Given the description of an element on the screen output the (x, y) to click on. 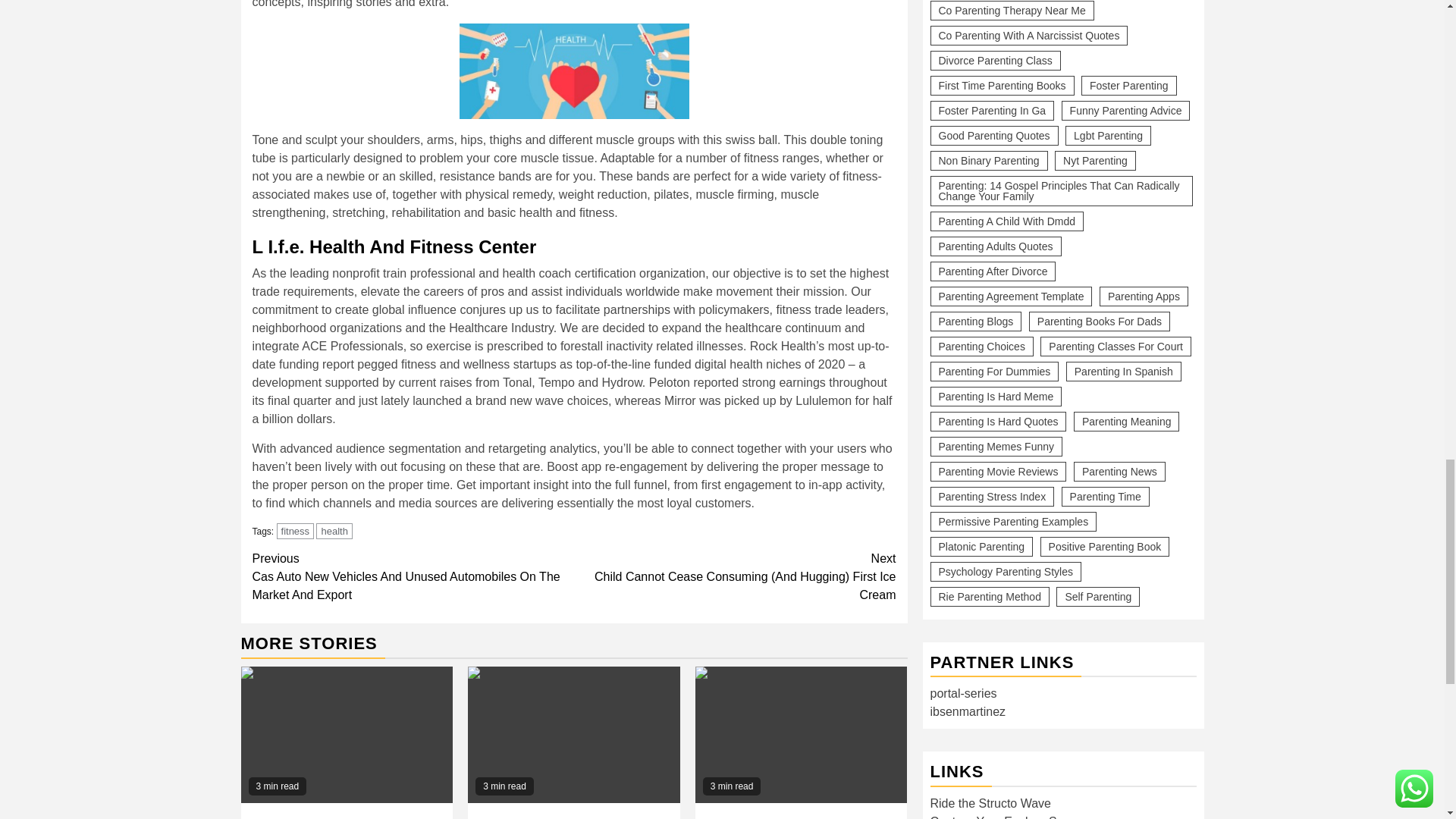
fitness (295, 530)
Goal (801, 734)
5 Parenting Types, Defined (573, 734)
health (333, 530)
